Given the description of an element on the screen output the (x, y) to click on. 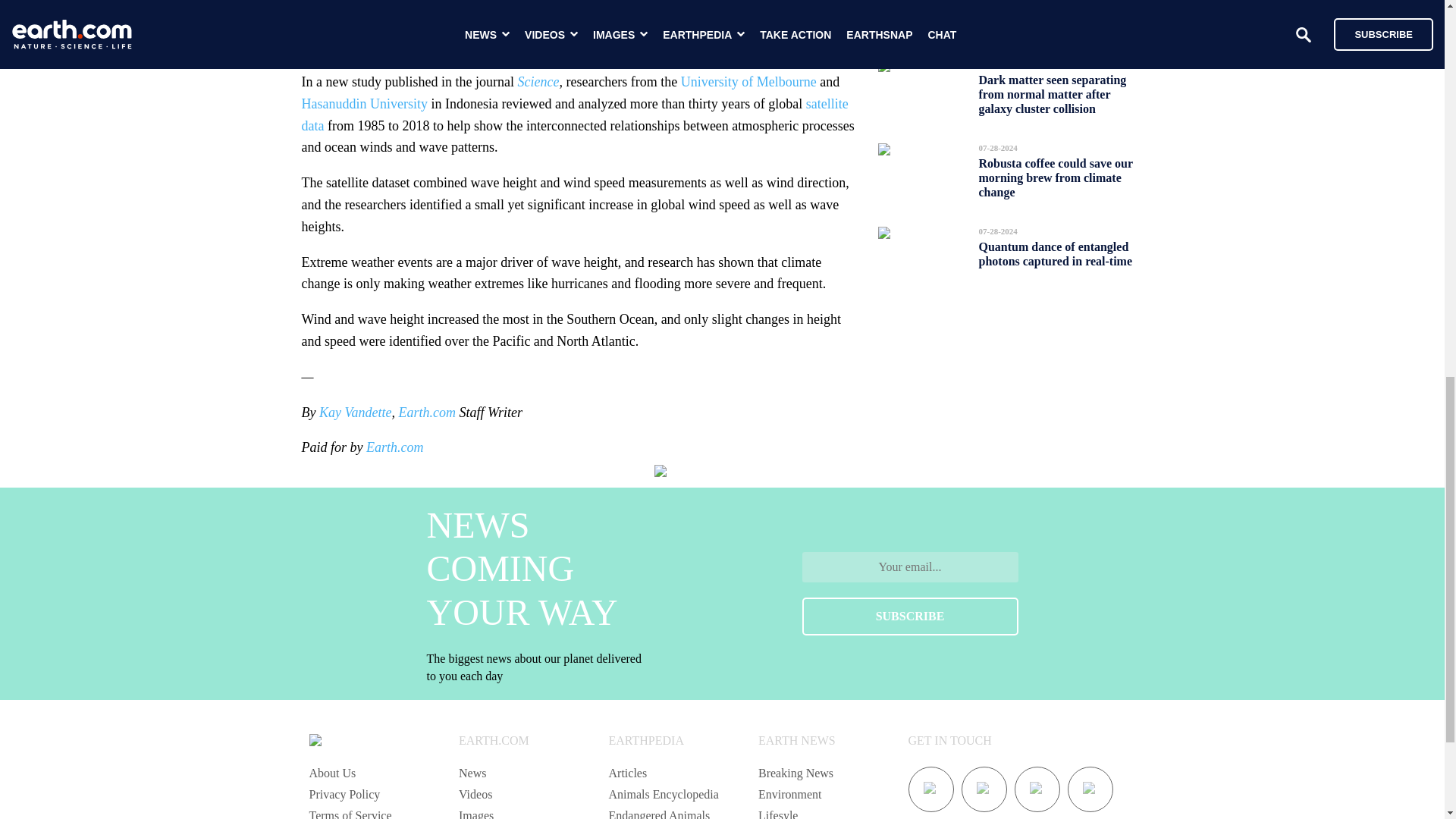
Science (537, 81)
Earth.com (427, 412)
satellite data (574, 114)
Hasanuddin University (364, 103)
University of Melbourne (748, 81)
Earth.com (394, 447)
Cicada wings inspire new antibacterial technologies (1044, 12)
Kay Vandette (354, 412)
